Given the description of an element on the screen output the (x, y) to click on. 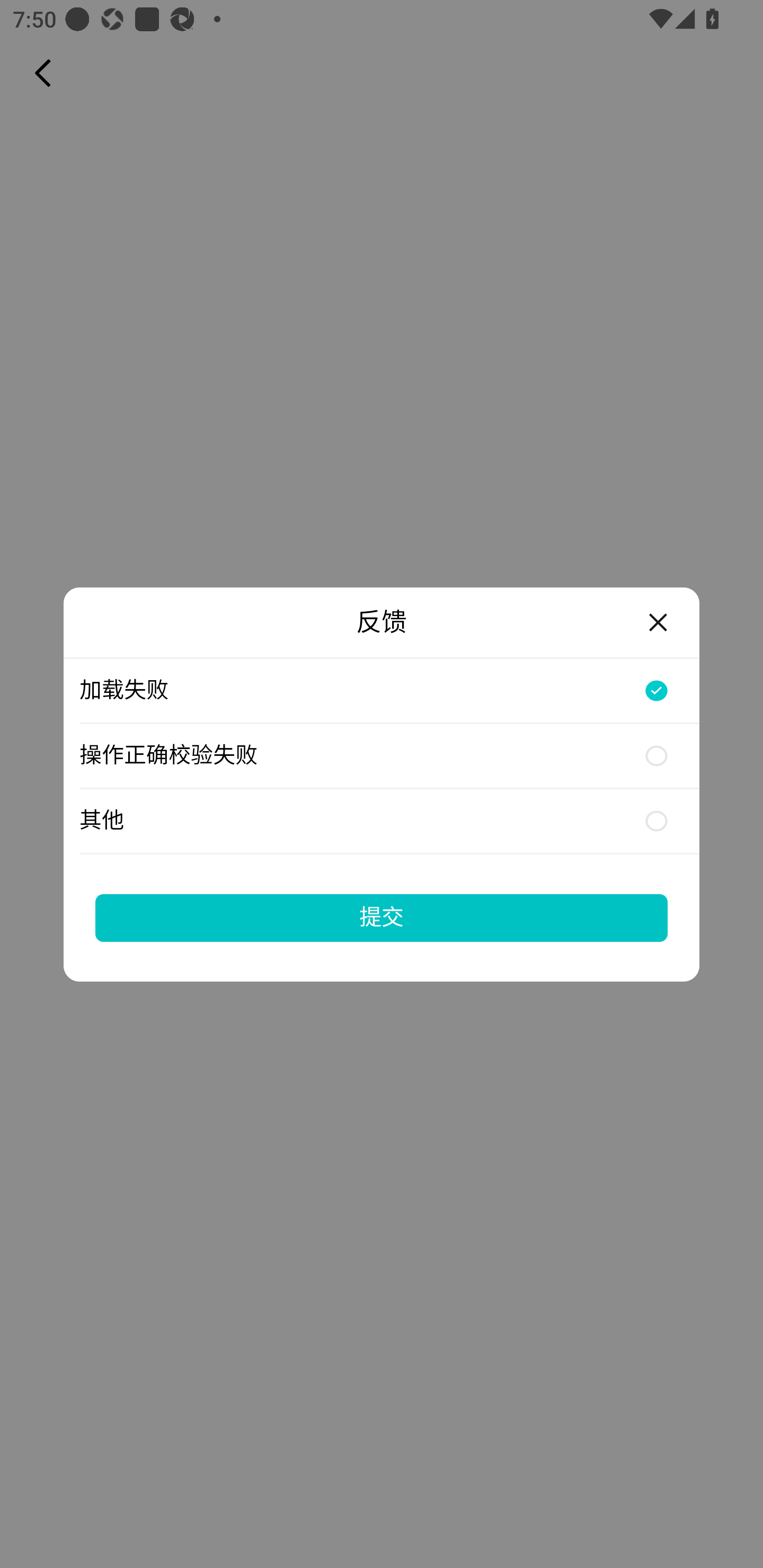
提交 (381, 917)
